Given the description of an element on the screen output the (x, y) to click on. 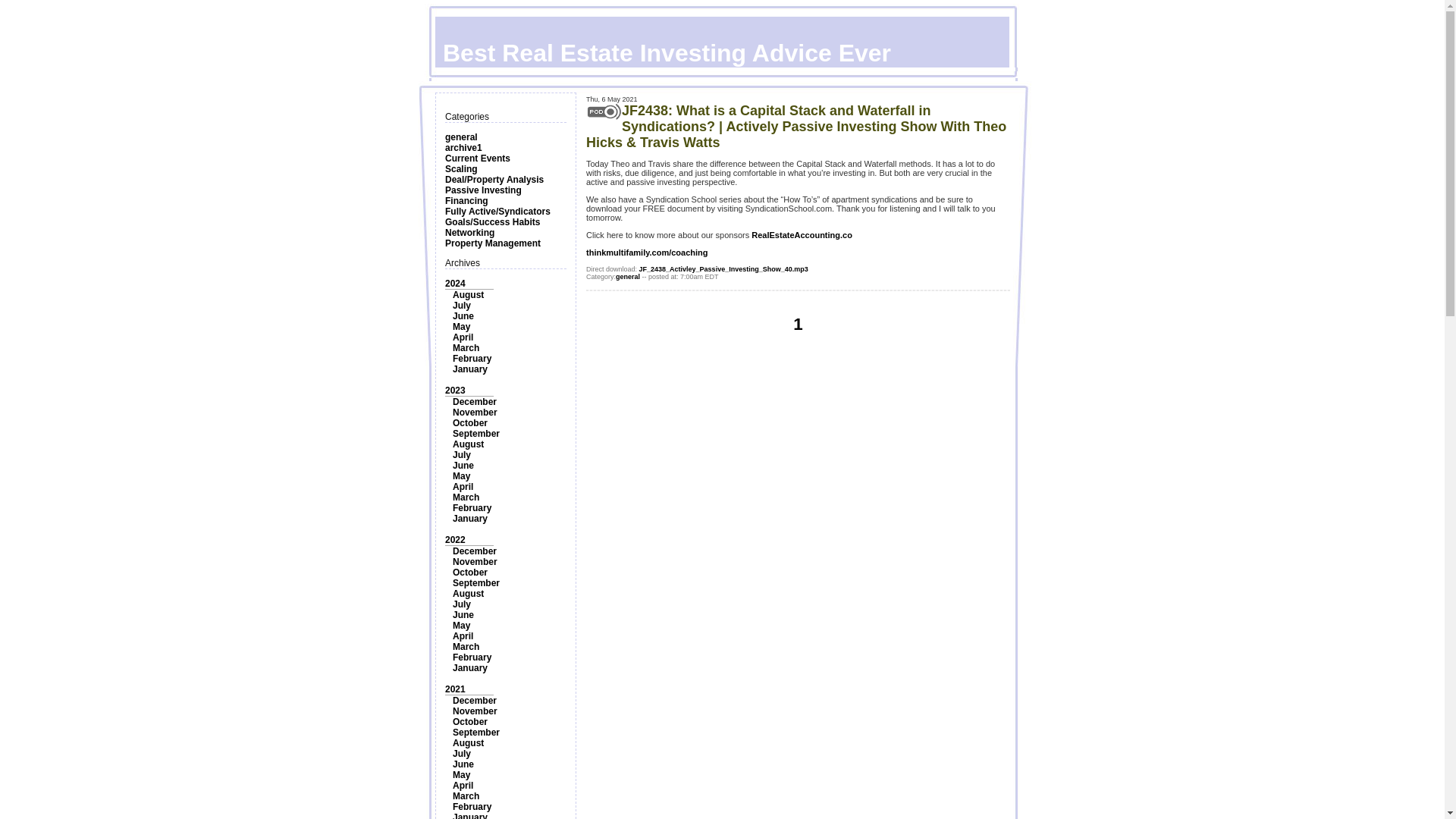
general (461, 136)
Current Events (478, 158)
November (474, 412)
January (469, 518)
April (462, 337)
August (467, 593)
Passive Investing (483, 190)
December (474, 551)
June (463, 316)
August (467, 443)
